Given the description of an element on the screen output the (x, y) to click on. 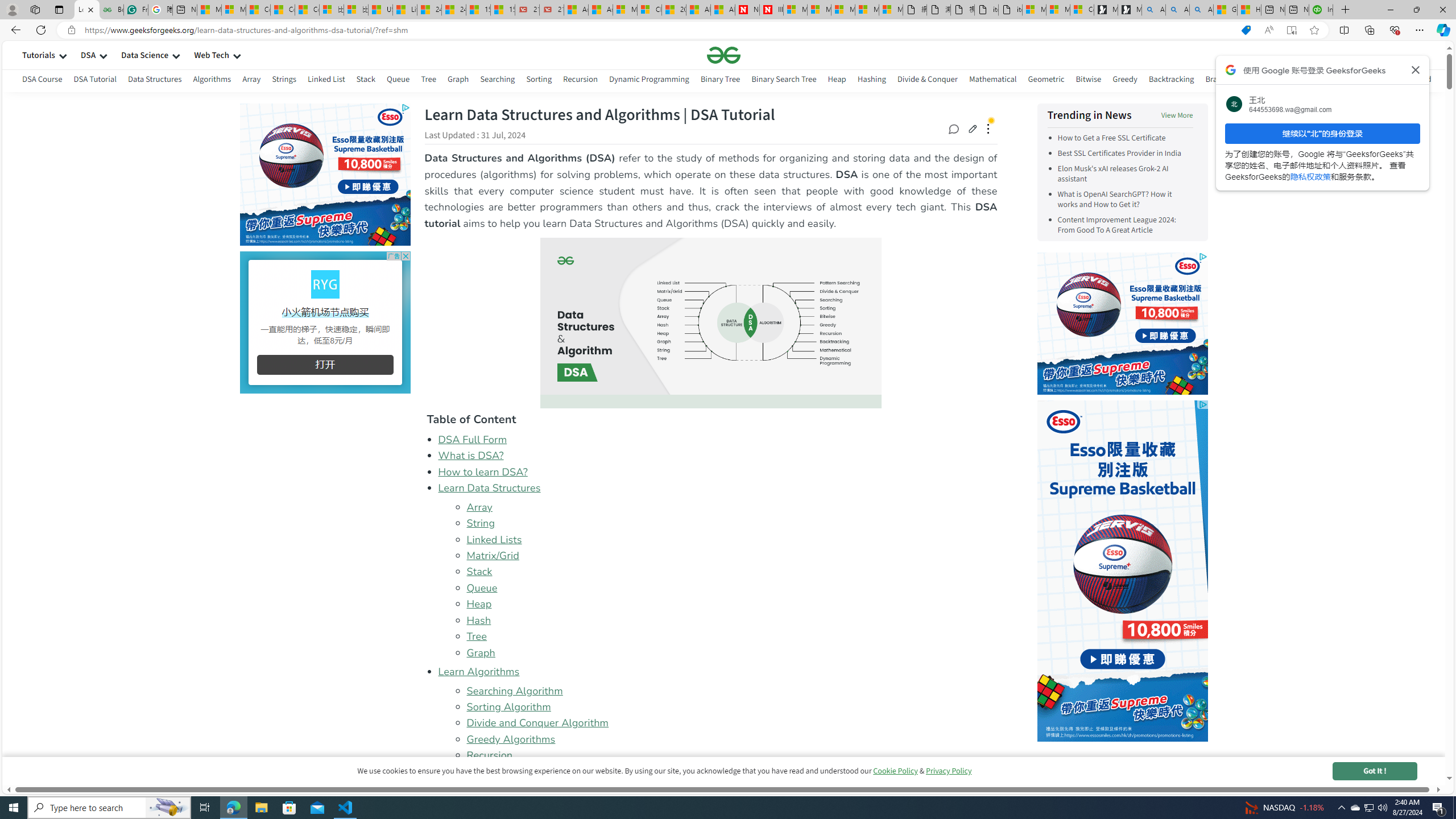
Data Science (144, 55)
Mathematical (992, 79)
Learn Algorithms (478, 671)
String (731, 523)
Divide & Conquer (927, 80)
Matrix (1291, 79)
Lifestyle - MSN (404, 9)
Branch and Bound (1237, 79)
DSA Course (42, 79)
Best SSL Certificates Provider in India (1125, 153)
Divide and Conquer Algorithm (536, 722)
Web Tech (211, 55)
